Given the description of an element on the screen output the (x, y) to click on. 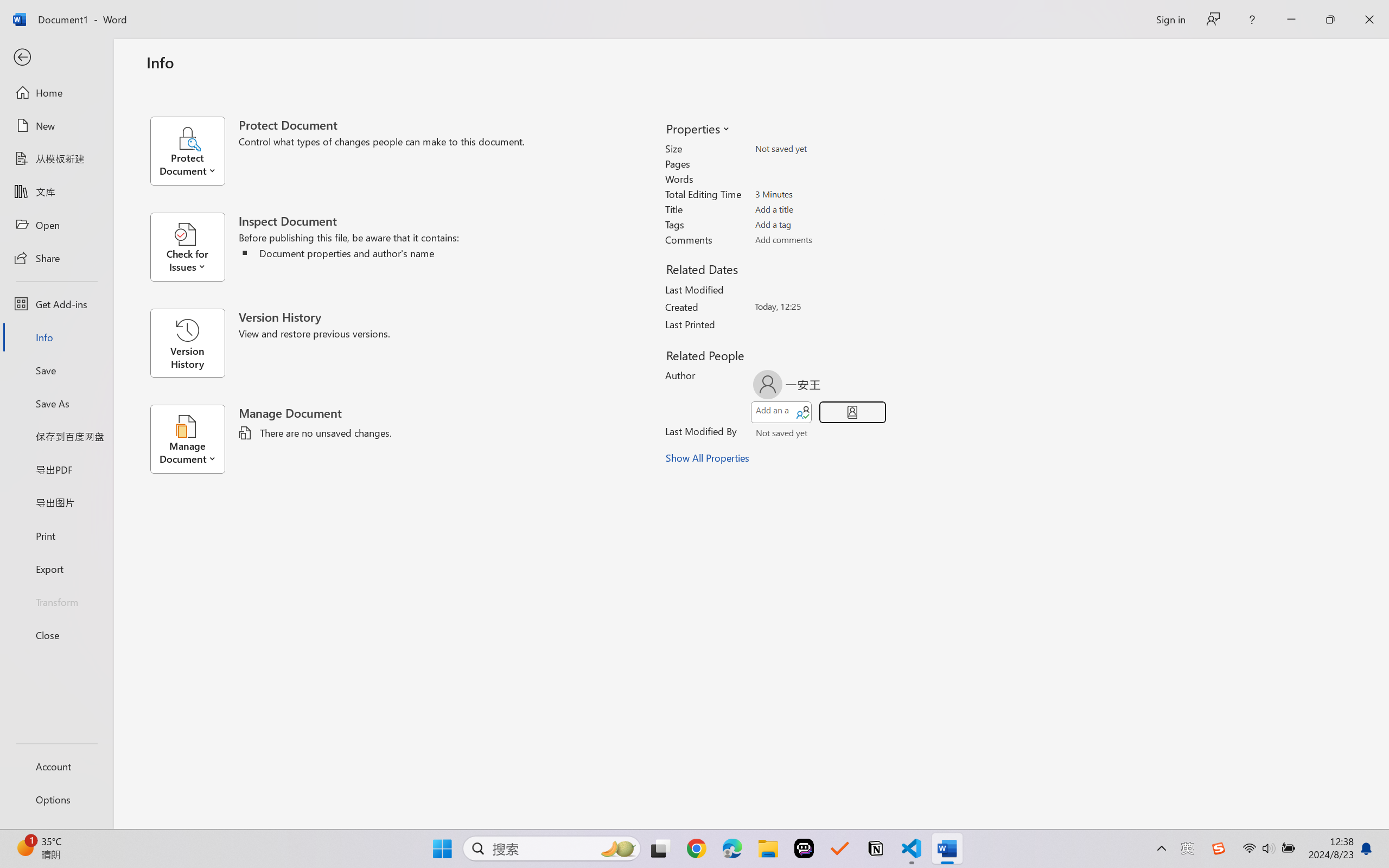
Back (56, 57)
Properties (696, 128)
Protect Document (194, 150)
Info (56, 337)
Transform (56, 601)
Save As (56, 403)
Not saved yet (772, 434)
